Given the description of an element on the screen output the (x, y) to click on. 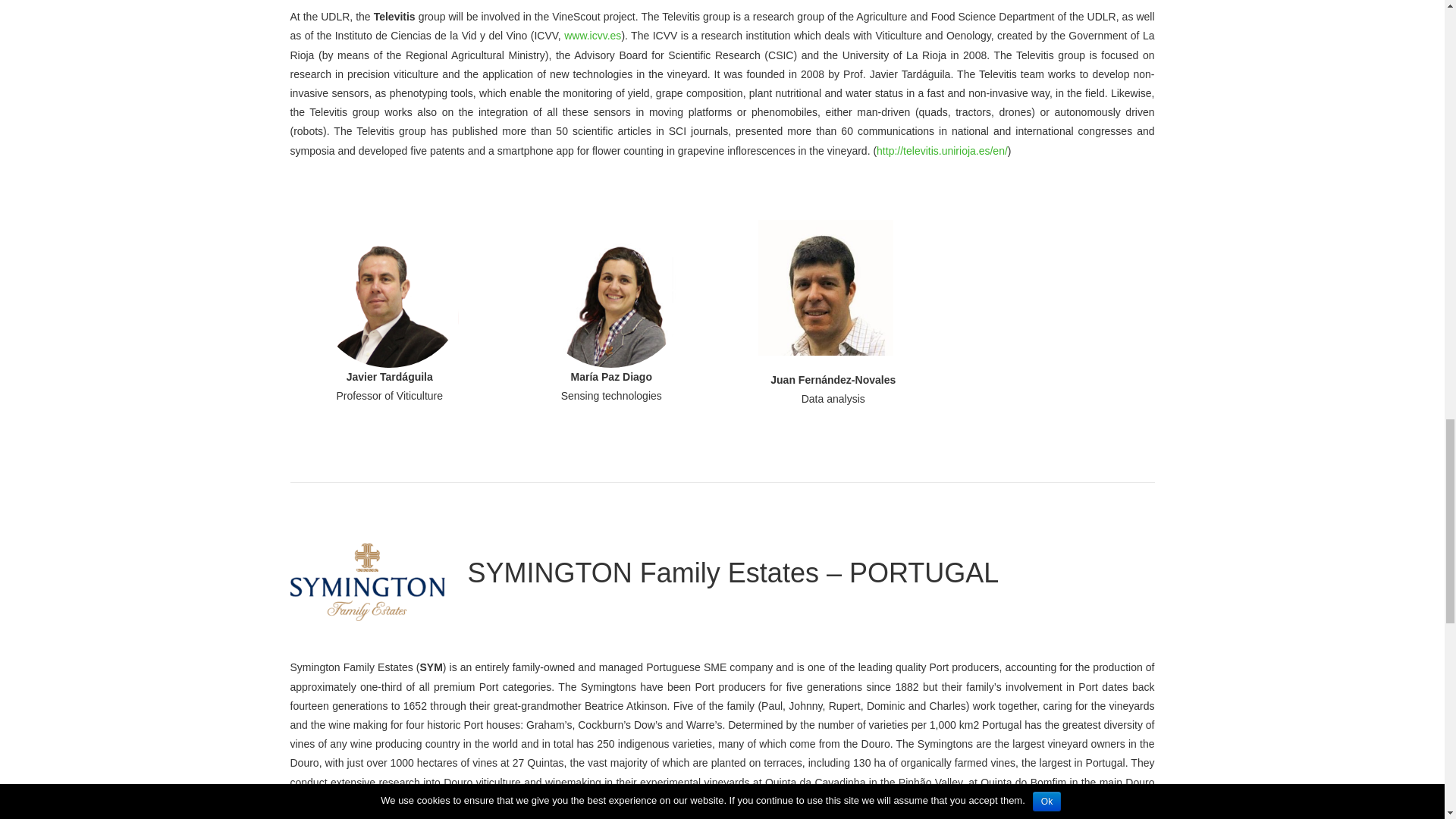
www.icvv.es (592, 35)
